Given the description of an element on the screen output the (x, y) to click on. 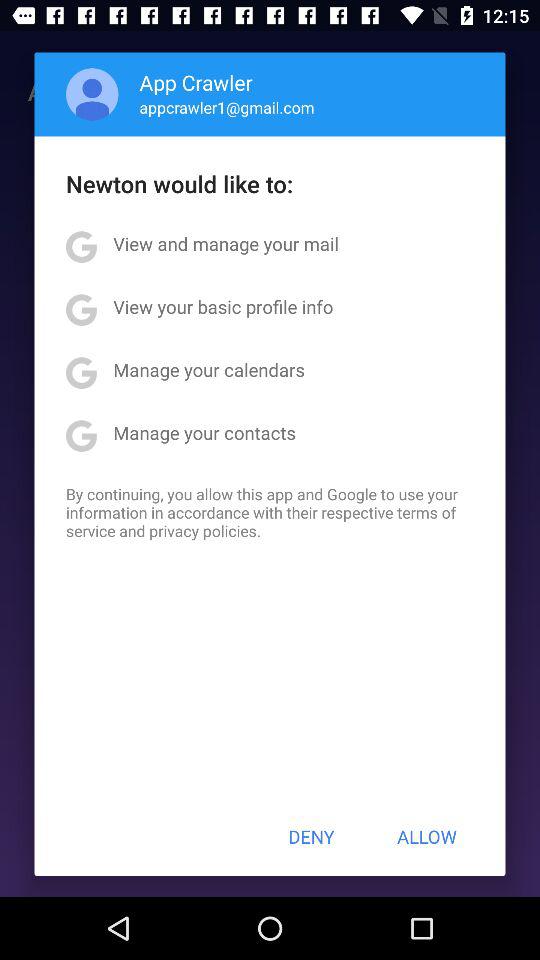
turn off app crawler app (195, 82)
